Given the description of an element on the screen output the (x, y) to click on. 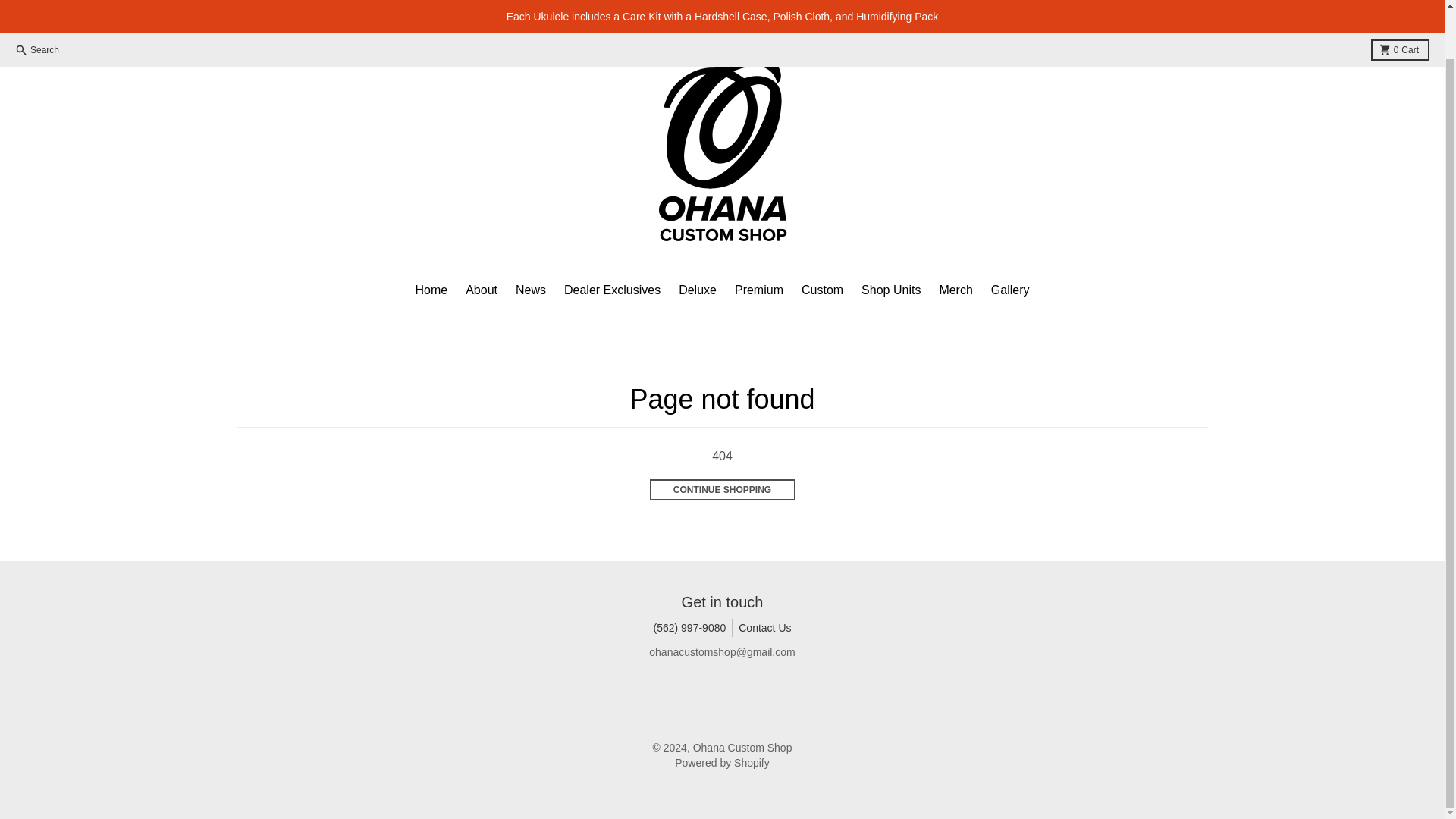
Dealer Exclusives (611, 290)
Premium (758, 290)
Gallery (1010, 290)
Home (431, 290)
Ohana Custom Shop (742, 747)
Custom (821, 290)
Powered by Shopify (722, 762)
Shop Units (890, 290)
Deluxe (1400, 4)
